Given the description of an element on the screen output the (x, y) to click on. 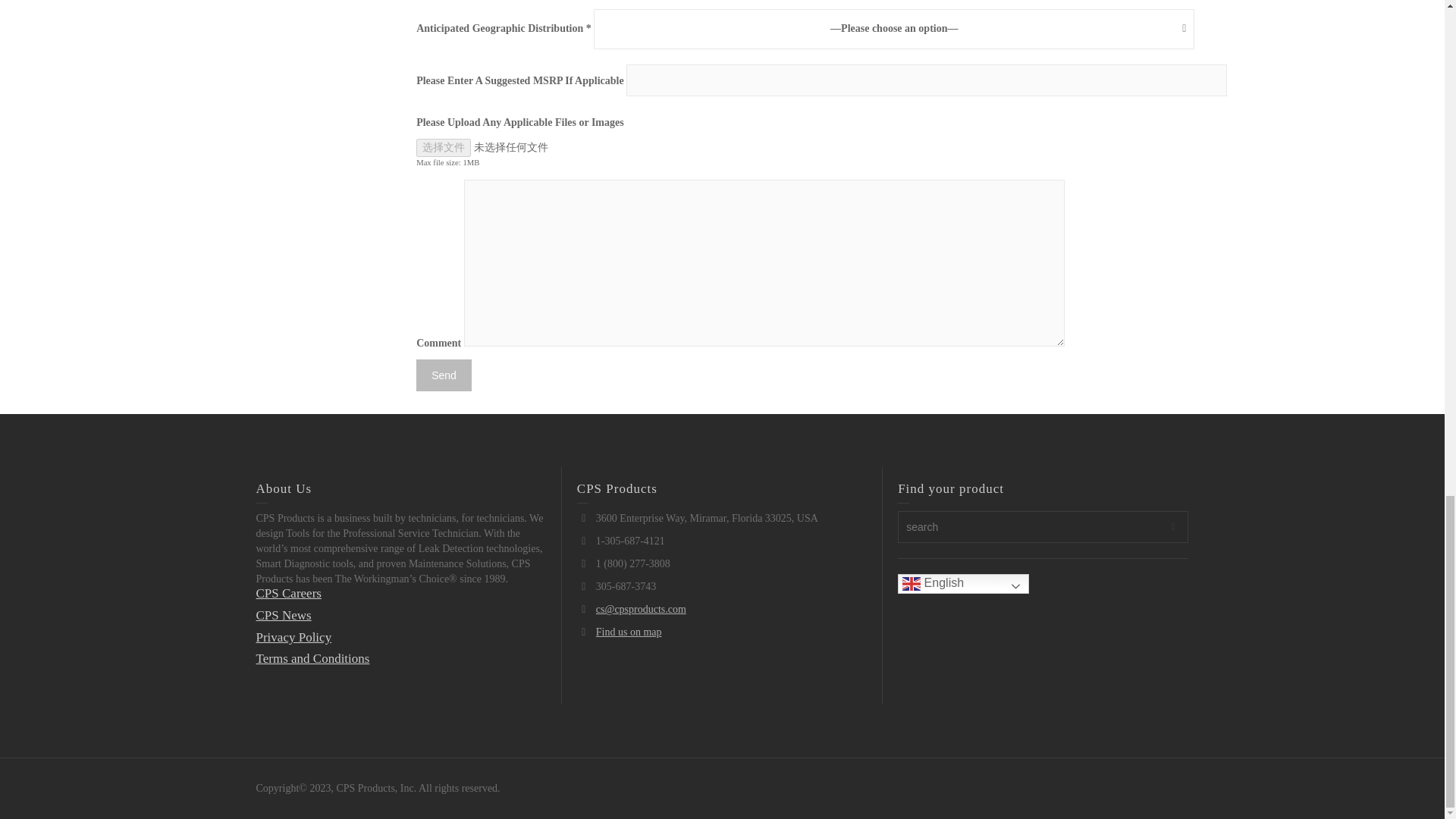
Send (443, 375)
Find us on map (628, 632)
